Given the description of an element on the screen output the (x, y) to click on. 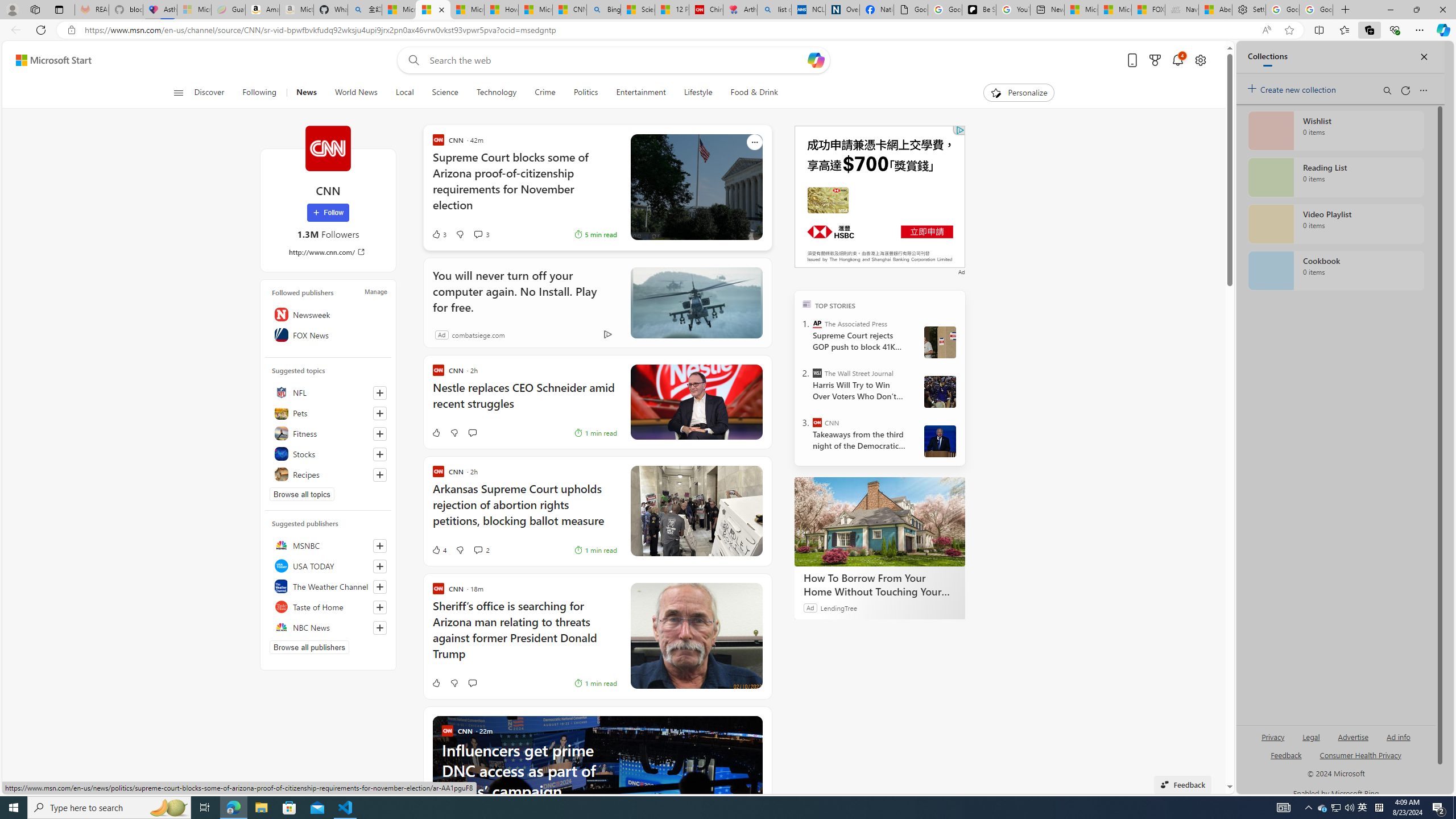
Science (444, 92)
Dislike (453, 682)
Technology (496, 92)
View comments 2 Comment (480, 549)
Stocks (327, 453)
Class: qc-adchoices-icon (959, 130)
Notifications (1177, 60)
